Given the description of an element on the screen output the (x, y) to click on. 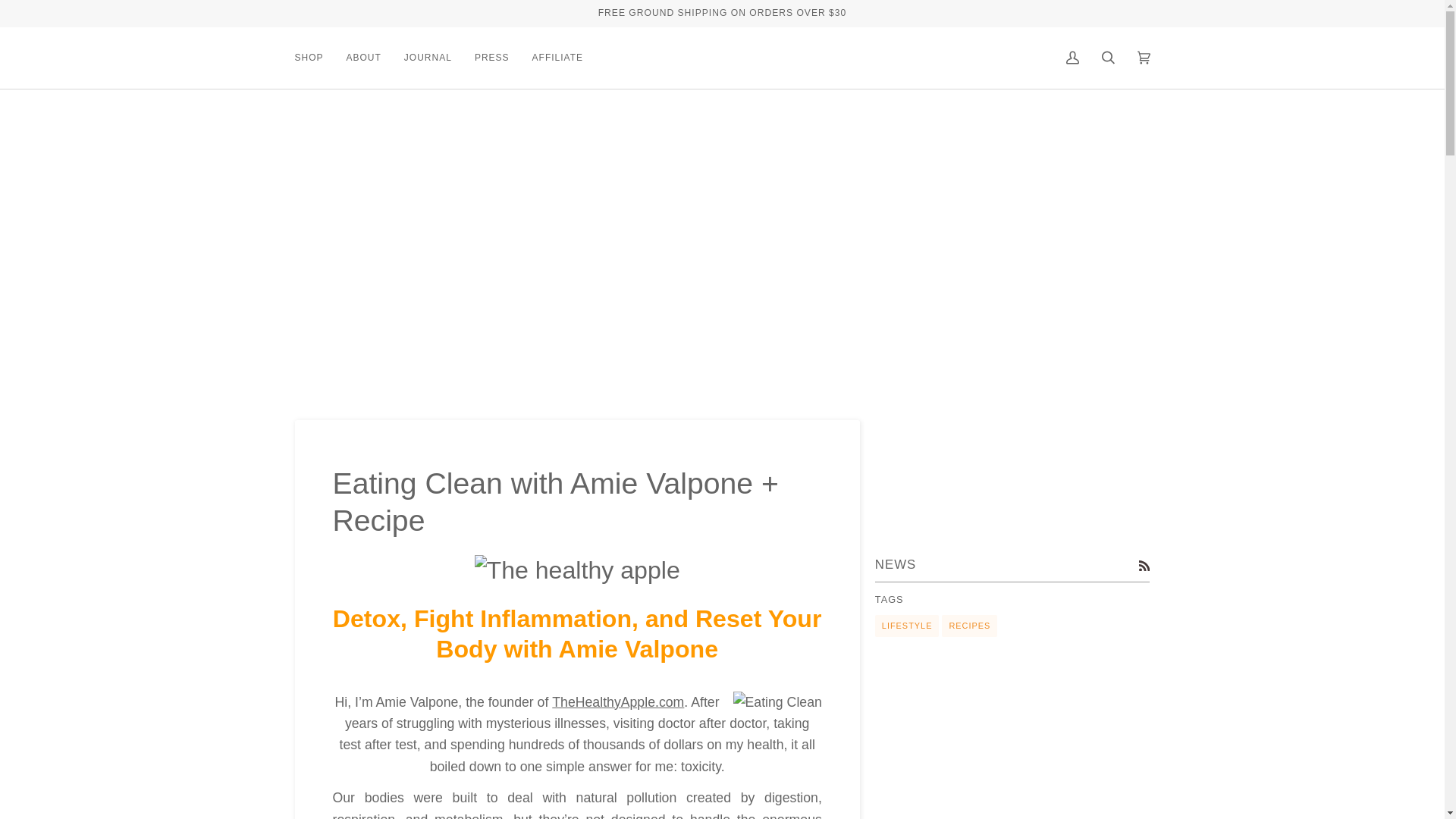
JOURNAL (428, 57)
AFFILIATE (557, 57)
ABOUT (363, 57)
PRESS (492, 57)
